Given the description of an element on the screen output the (x, y) to click on. 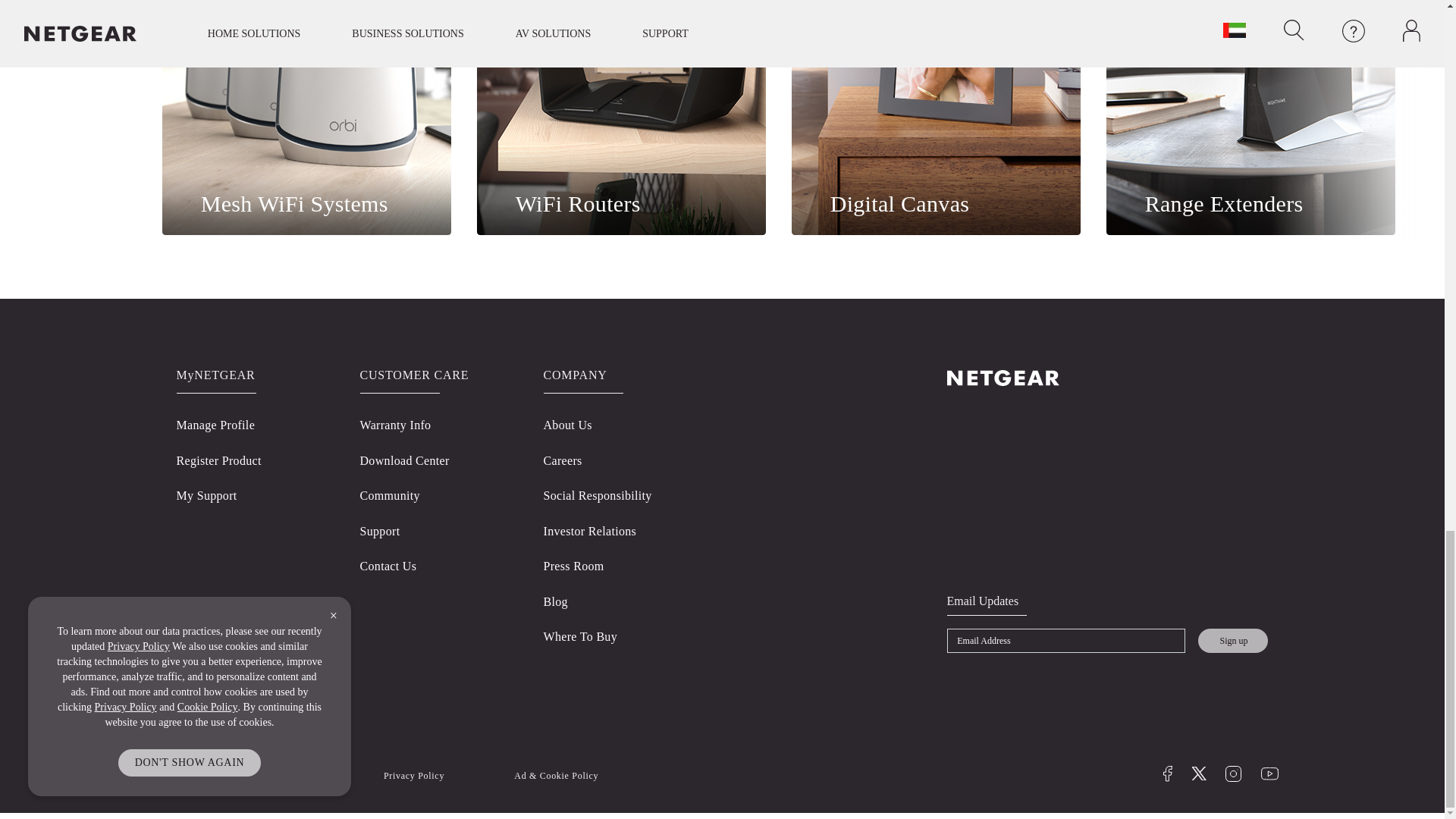
Mesh WiFi Systems (306, 117)
Digital Canvas (936, 117)
Range Extenders (1250, 117)
Range Extenders (1250, 117)
WiFi Routers (621, 117)
WiFi Routers (621, 117)
Sign up (1233, 640)
Digital Canvas (936, 117)
Mesh WiFi Systems (306, 117)
